Given the description of an element on the screen output the (x, y) to click on. 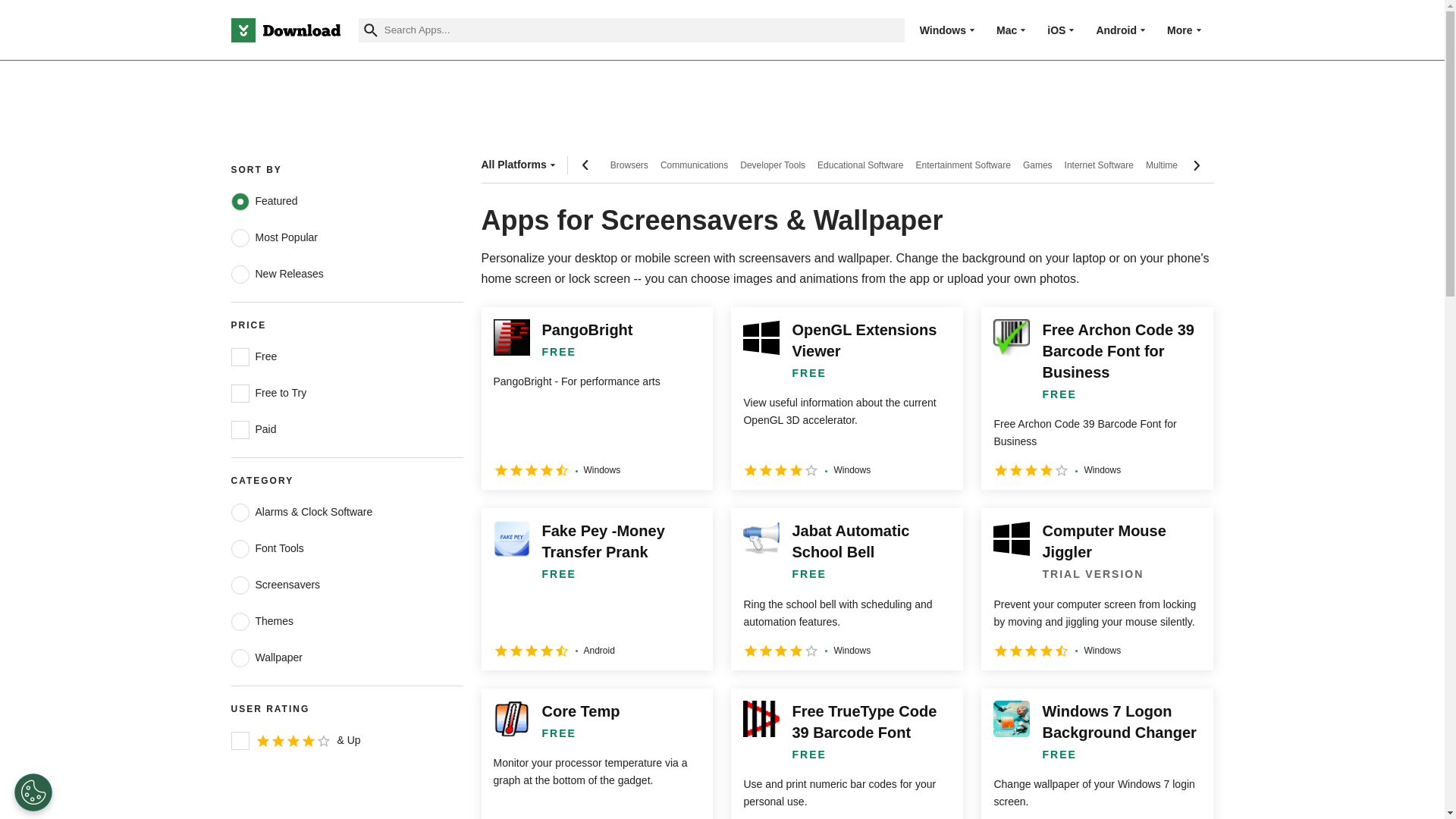
4up (239, 741)
Core Temp (596, 753)
customization-wallpapers (239, 658)
customization-screensavers (239, 585)
Jabat Automatic School Bell (846, 588)
paid (239, 429)
alarms-clock-software (239, 512)
design-font-tools (239, 548)
featured (239, 201)
Computer Mouse Jiggler (1096, 588)
